Given the description of an element on the screen output the (x, y) to click on. 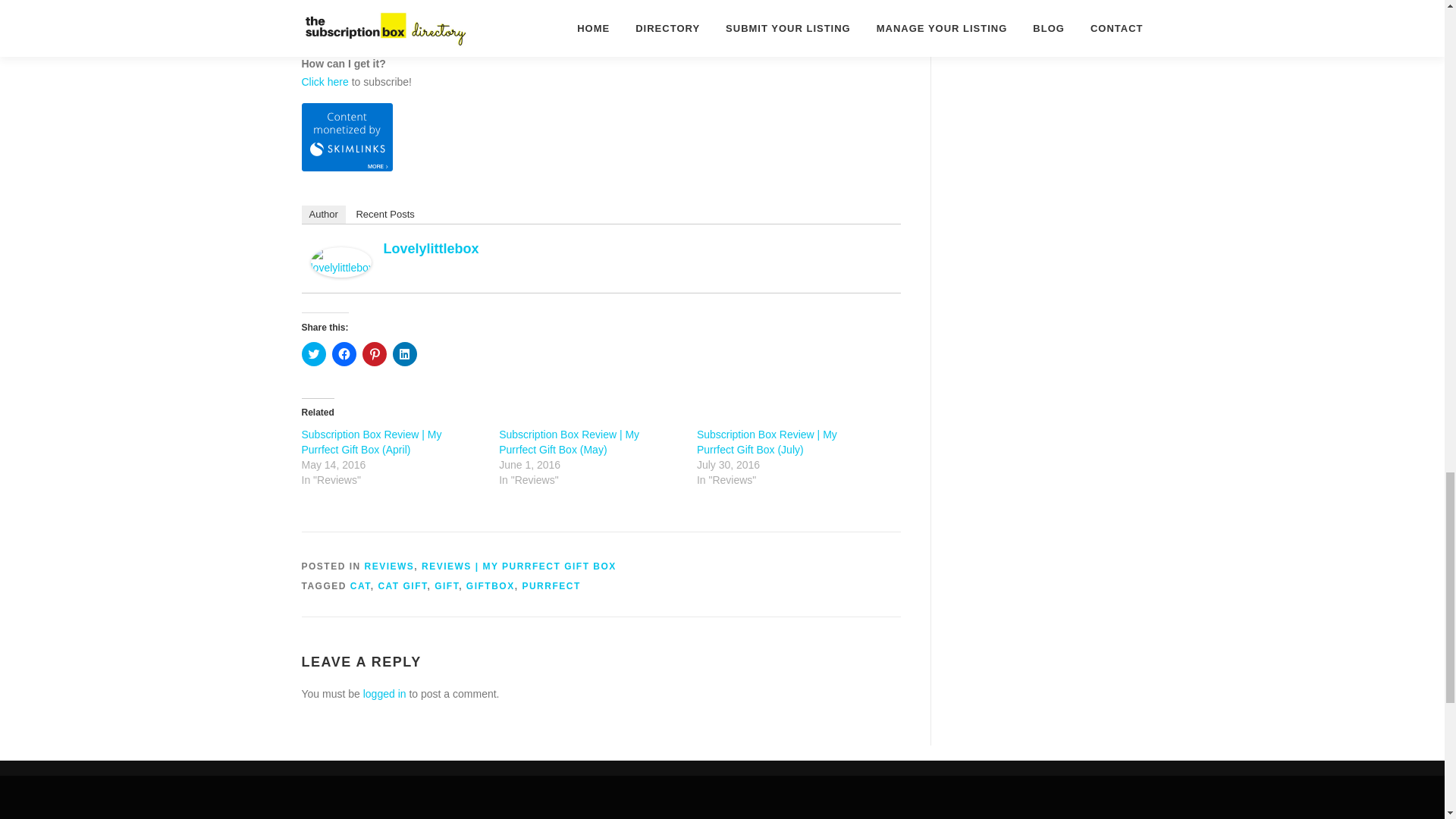
Click here (325, 81)
Recent Posts (384, 214)
Click to share on Facebook (343, 354)
Click to share on Twitter (313, 354)
Author (323, 214)
lovelylittlebox (341, 260)
Click to share on LinkedIn (404, 354)
Click to share on Pinterest (374, 354)
Lovelylittlebox (431, 248)
